Given the description of an element on the screen output the (x, y) to click on. 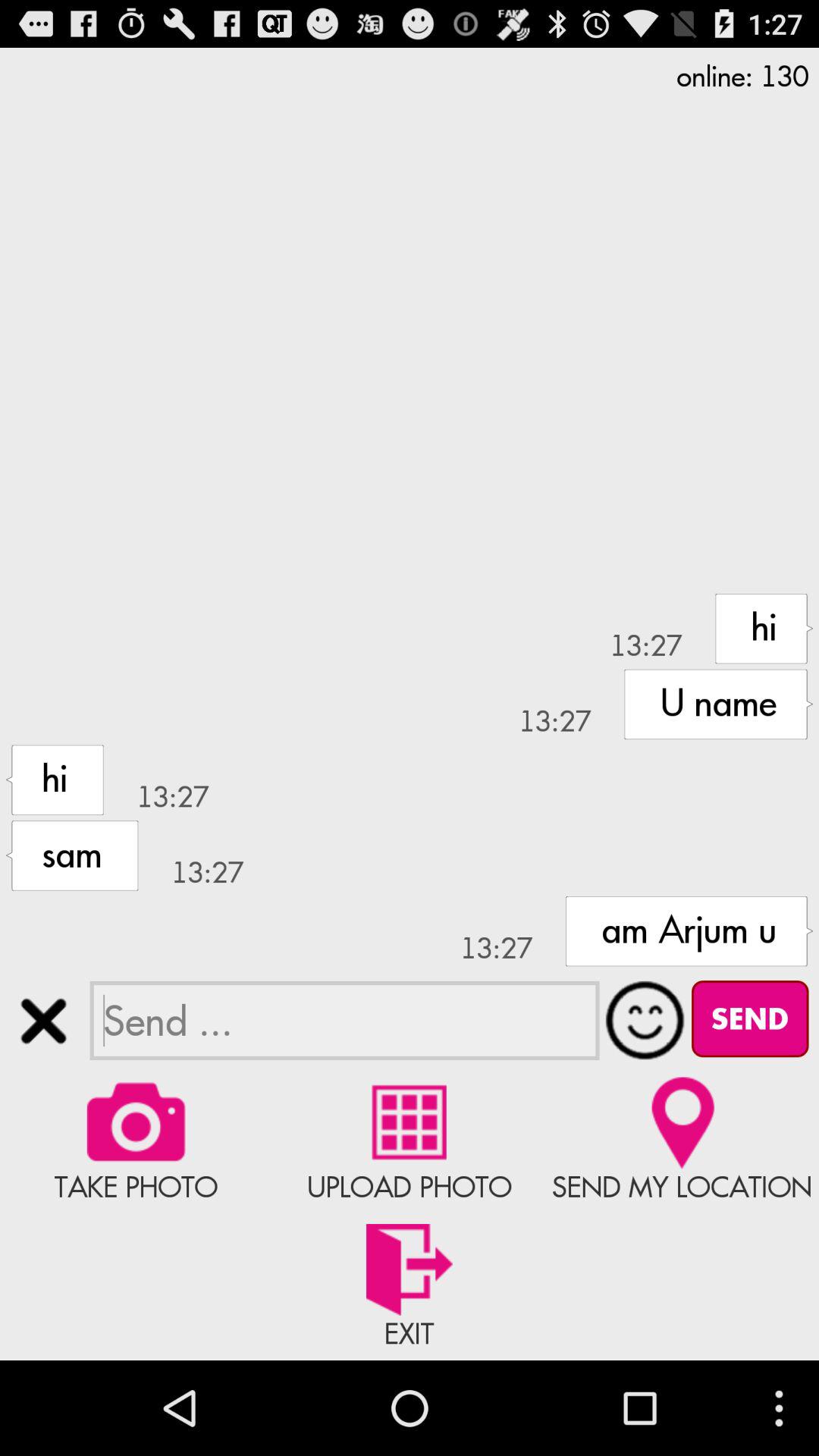
open emojis (645, 1020)
